Given the description of an element on the screen output the (x, y) to click on. 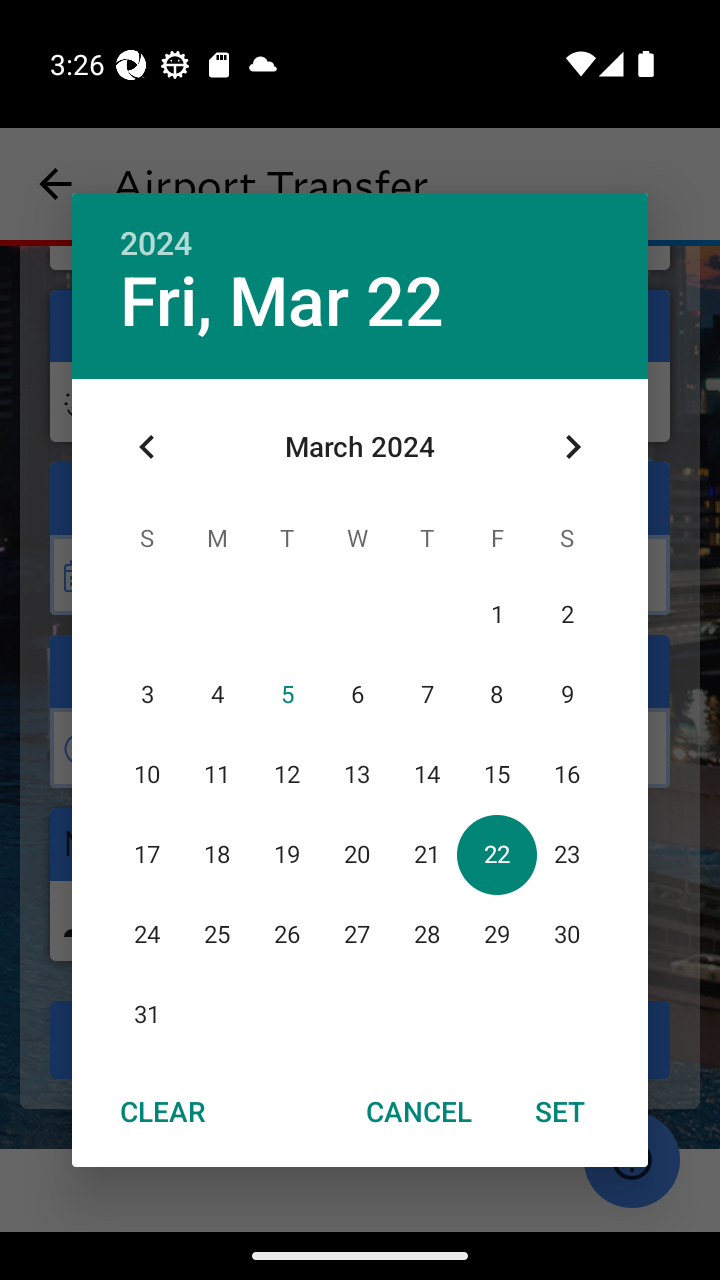
2024 (155, 243)
Fri, Mar 22 (282, 302)
Previous month (147, 447)
Next month (572, 447)
1 01 March 2024 (497, 614)
2 02 March 2024 (566, 614)
3 03 March 2024 (147, 694)
4 04 March 2024 (216, 694)
5 05 March 2024 (286, 694)
6 06 March 2024 (356, 694)
7 07 March 2024 (426, 694)
8 08 March 2024 (497, 694)
9 09 March 2024 (566, 694)
10 10 March 2024 (147, 774)
11 11 March 2024 (216, 774)
12 12 March 2024 (286, 774)
13 13 March 2024 (356, 774)
14 14 March 2024 (426, 774)
15 15 March 2024 (497, 774)
16 16 March 2024 (566, 774)
17 17 March 2024 (147, 854)
18 18 March 2024 (216, 854)
19 19 March 2024 (286, 854)
20 20 March 2024 (356, 854)
21 21 March 2024 (426, 854)
22 22 March 2024 (497, 854)
23 23 March 2024 (566, 854)
24 24 March 2024 (147, 934)
25 25 March 2024 (216, 934)
26 26 March 2024 (286, 934)
27 27 March 2024 (356, 934)
28 28 March 2024 (426, 934)
29 29 March 2024 (497, 934)
30 30 March 2024 (566, 934)
31 31 March 2024 (147, 1014)
CLEAR (162, 1110)
CANCEL (419, 1110)
SET (560, 1110)
